Given the description of an element on the screen output the (x, y) to click on. 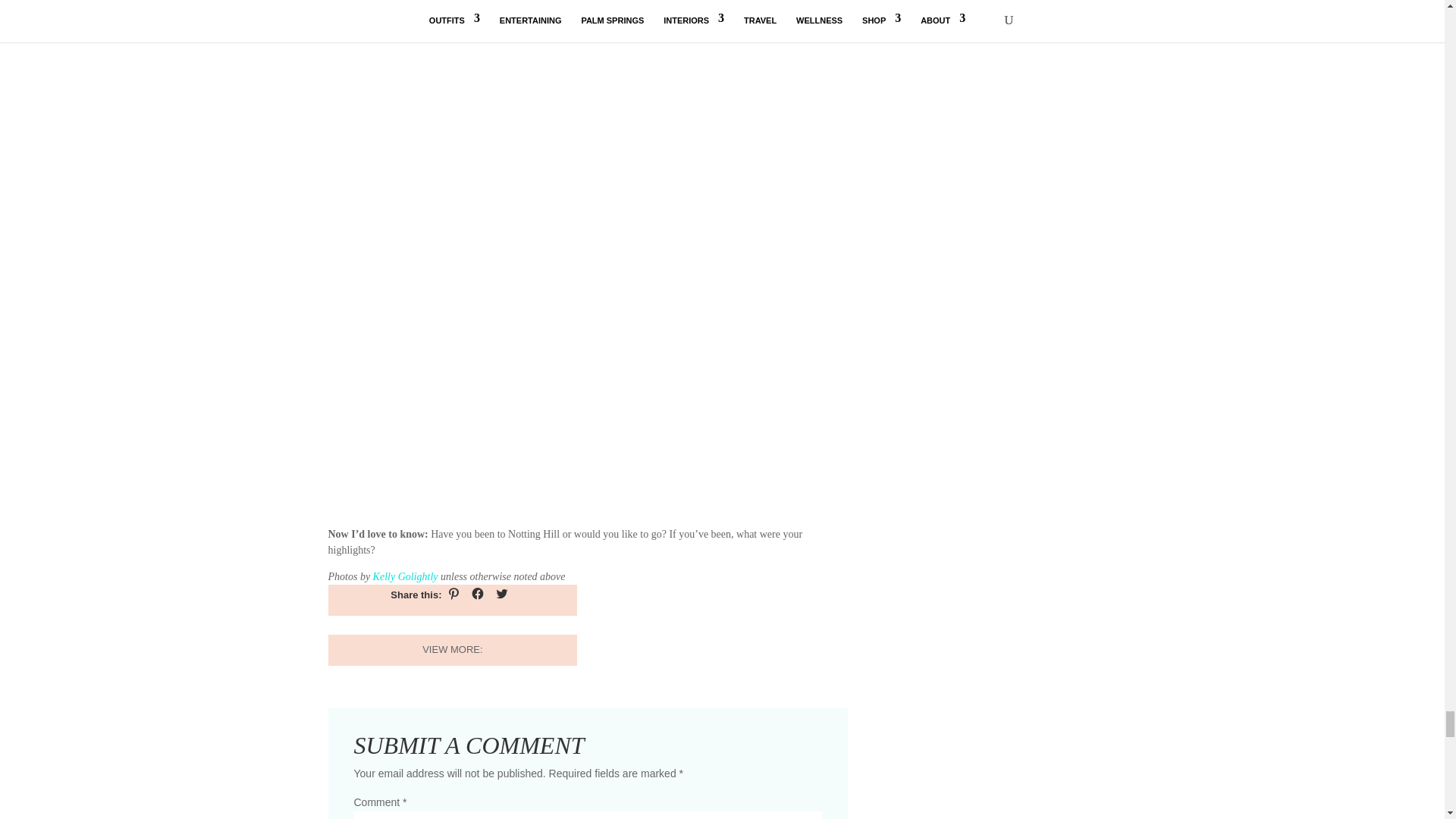
Click to share on Facebook (477, 593)
Click to share on Pinterest (453, 593)
Click to share on Twitter (501, 593)
